Given the description of an element on the screen output the (x, y) to click on. 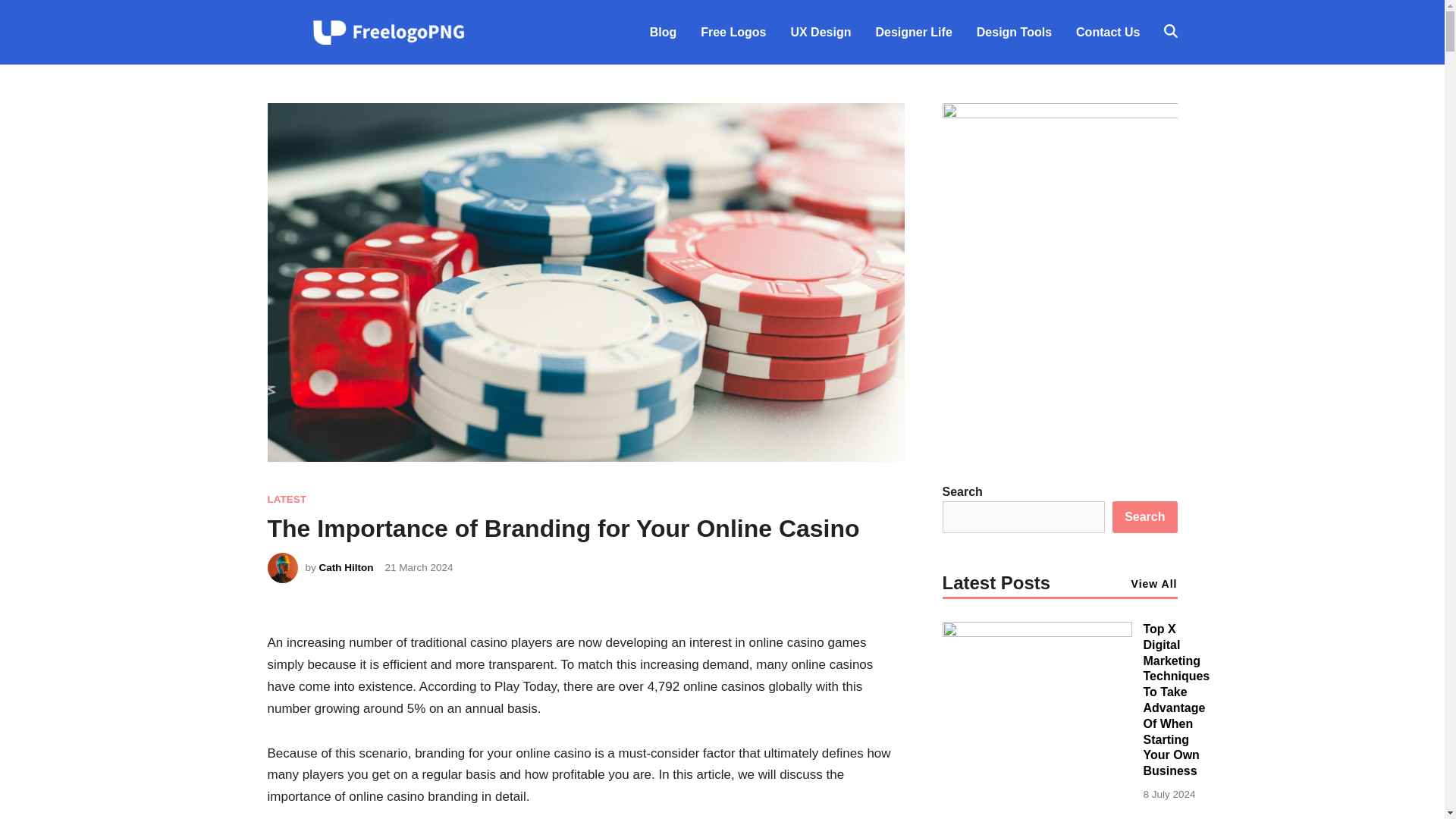
Design Tools (1013, 32)
Designer Life (913, 32)
Free Logos (732, 32)
Blog (662, 32)
Cath Hilton (346, 567)
8 July 2024 (1168, 794)
Contact Us (1107, 32)
LATEST (285, 498)
View All (1154, 583)
Search (1144, 517)
UX Design (820, 32)
21 March 2024 (418, 567)
